Given the description of an element on the screen output the (x, y) to click on. 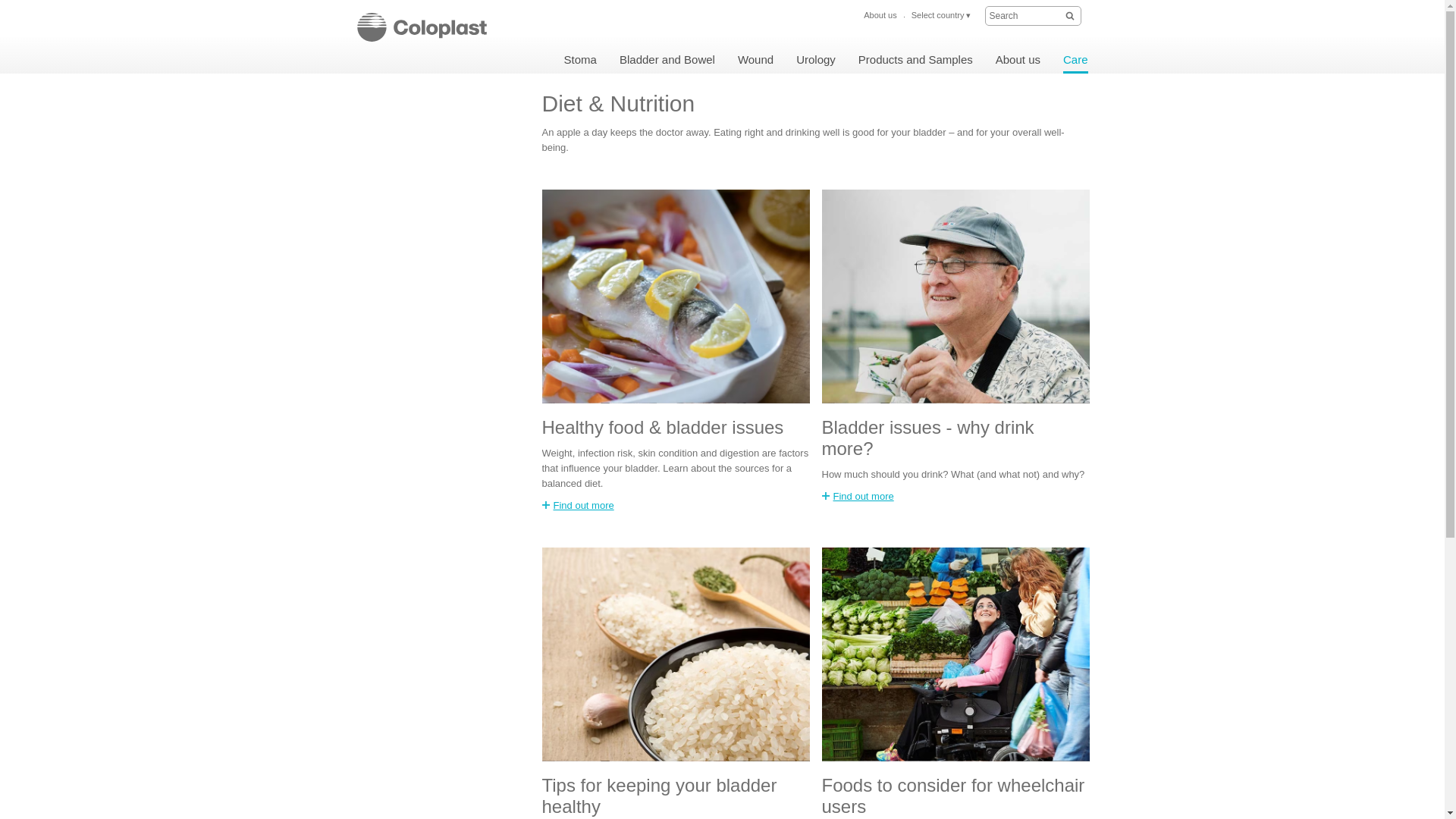
Urology (815, 60)
Care (1074, 60)
Stoma (580, 60)
About us (1018, 60)
Bladder and Bowel (667, 60)
Products and Samples (915, 60)
Wound (755, 60)
About us (879, 9)
